Given the description of an element on the screen output the (x, y) to click on. 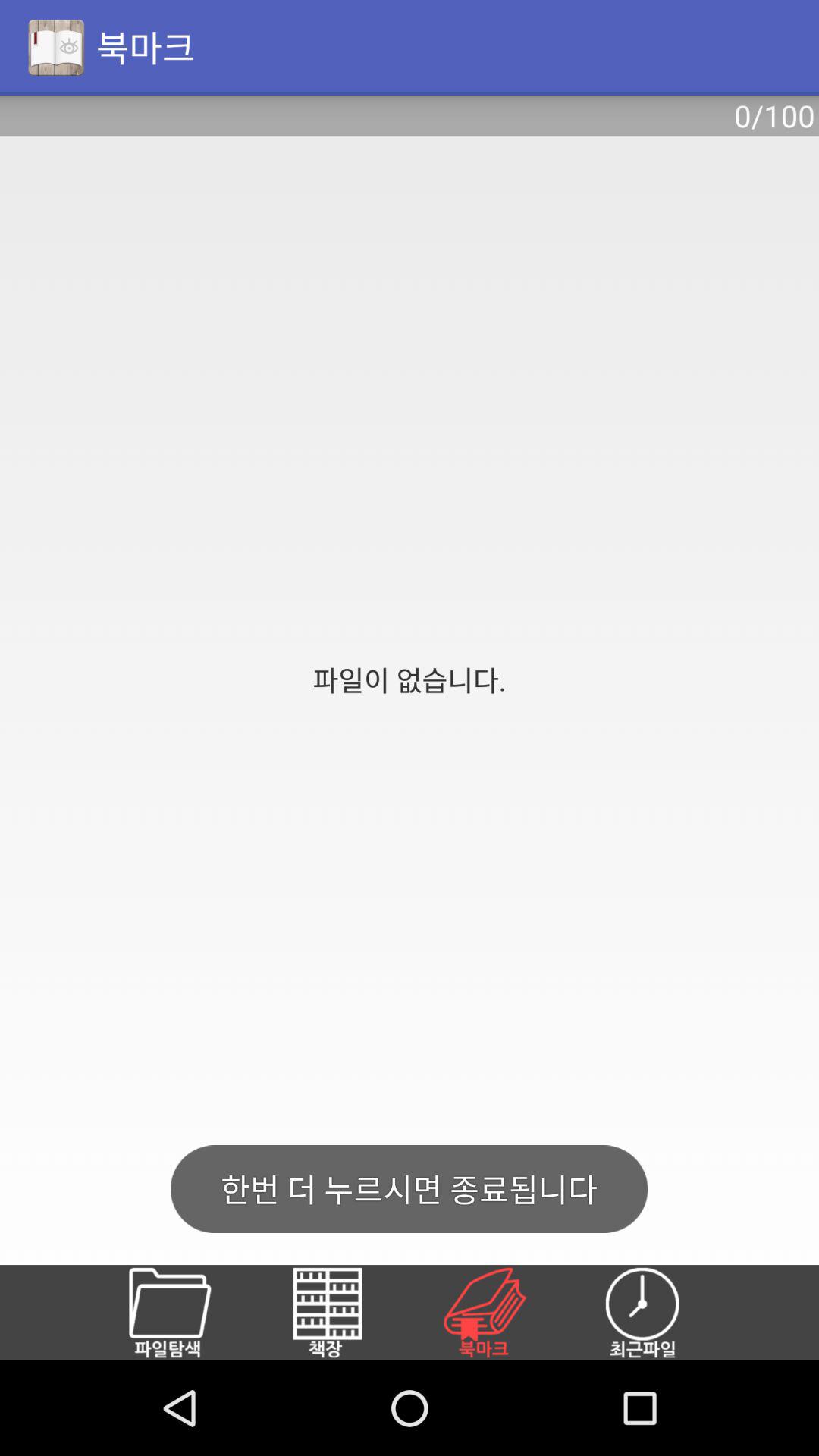
my files (187, 1312)
